Given the description of an element on the screen output the (x, y) to click on. 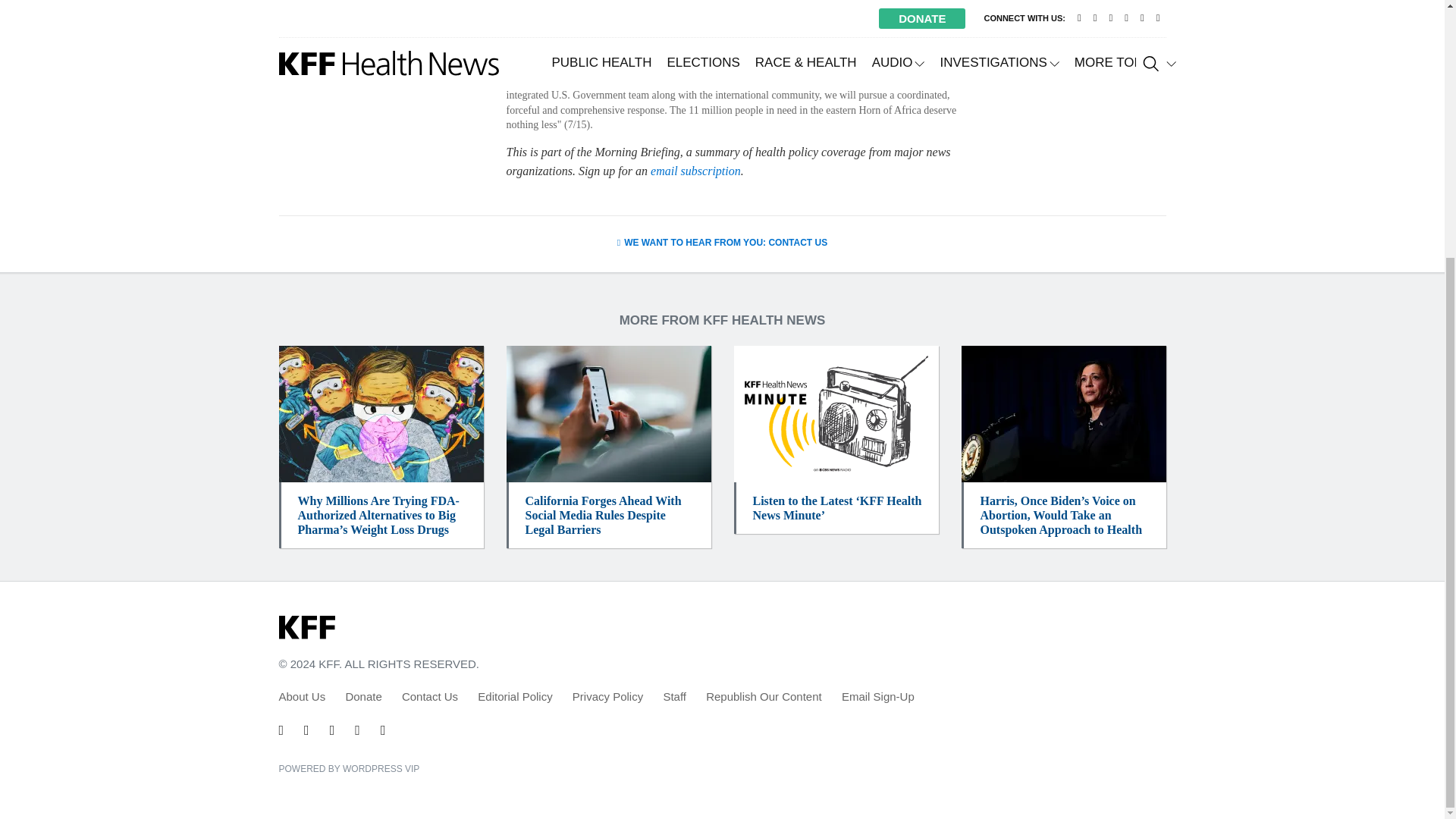
Facebook (306, 729)
Twitter (281, 729)
Instagram (357, 729)
LinkedIn (332, 729)
RSS (382, 729)
KFF (306, 627)
